Given the description of an element on the screen output the (x, y) to click on. 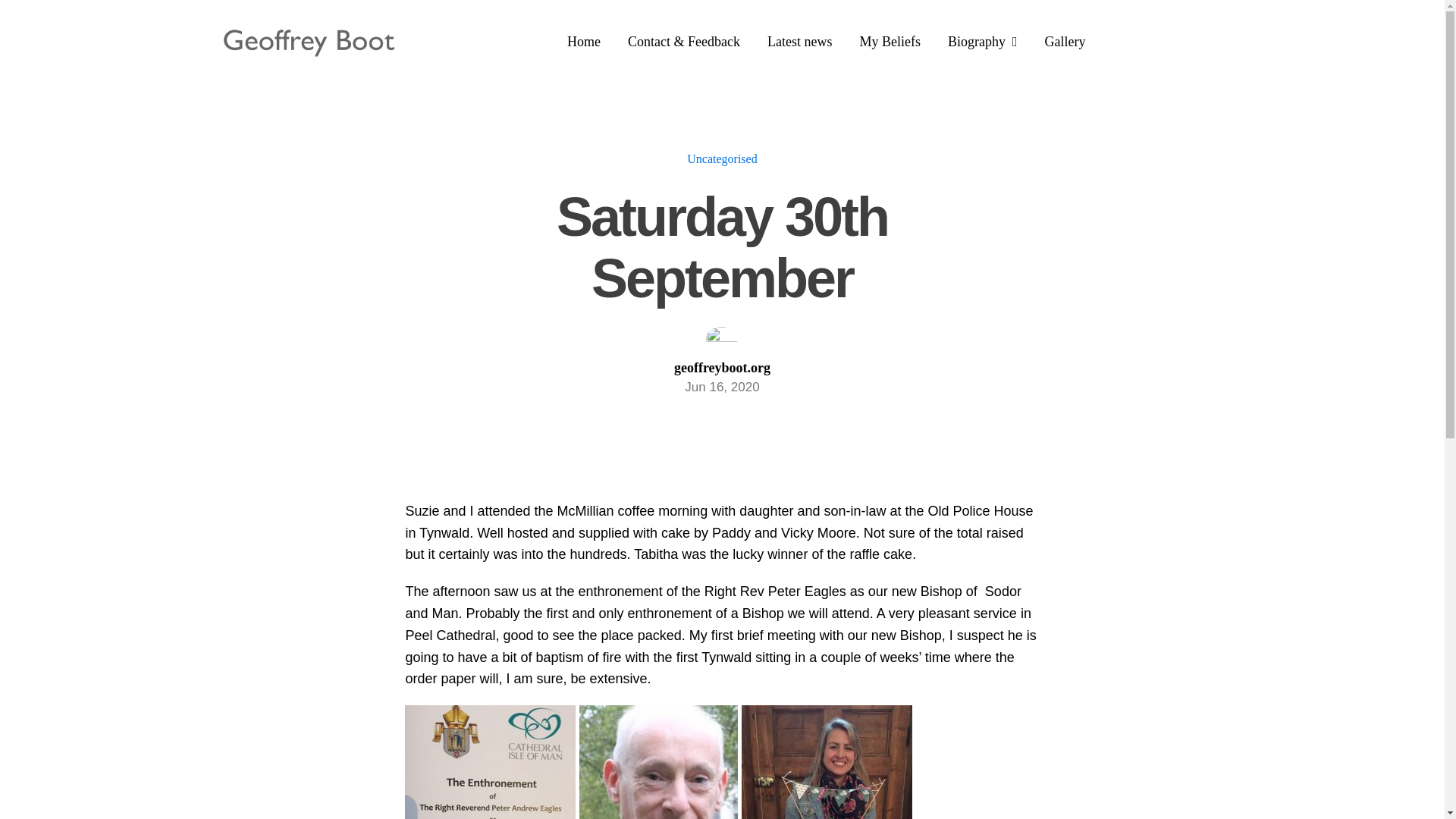
My Beliefs (889, 42)
Biography (982, 42)
Home (583, 42)
Gallery (1065, 42)
Uncategorised (722, 158)
Uncategorised (722, 158)
hedgelandscapepmce (722, 338)
Latest news (798, 42)
